Given the description of an element on the screen output the (x, y) to click on. 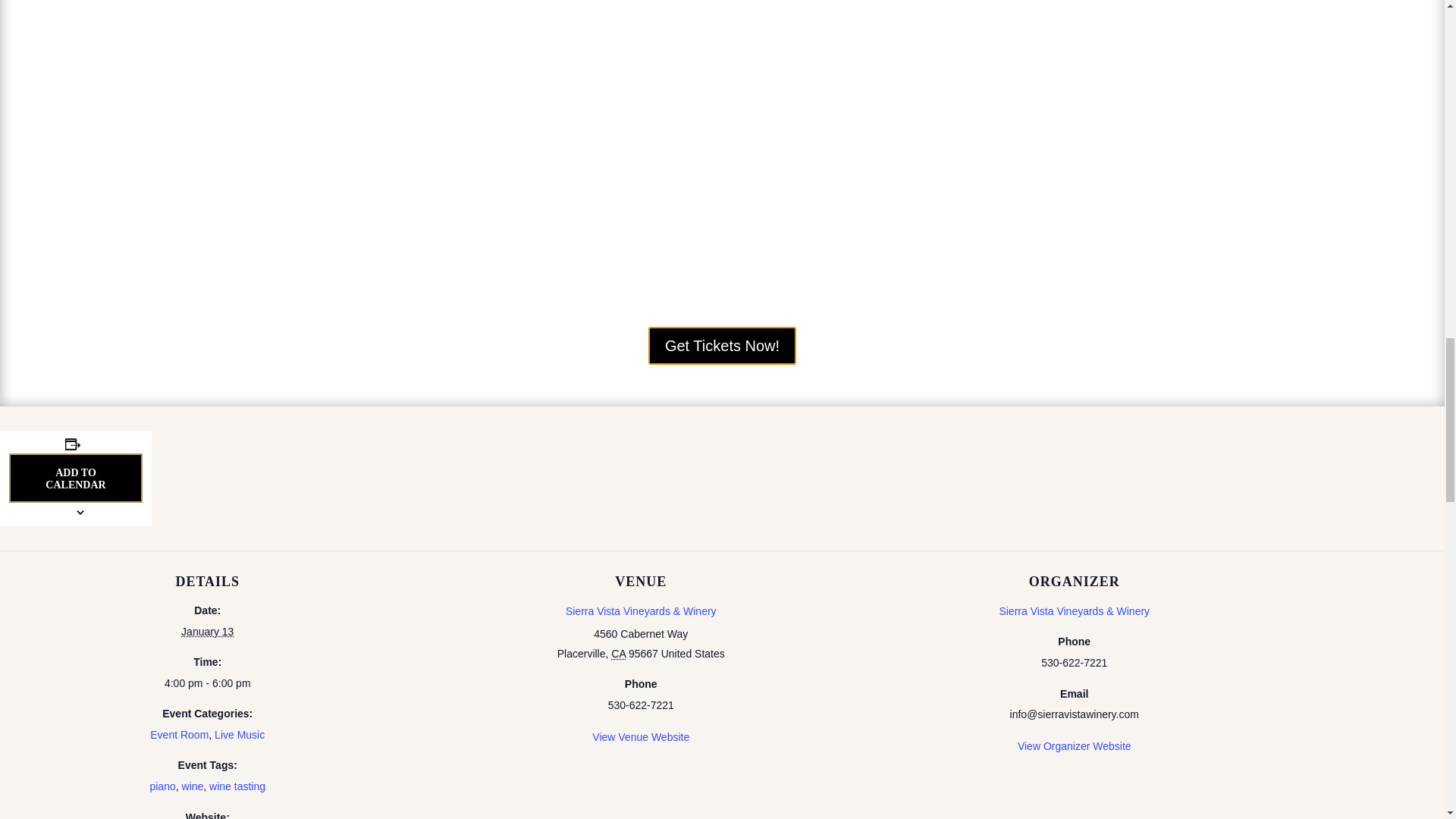
2024-01-13 (207, 683)
California (618, 653)
2024-01-13 (206, 631)
